Given the description of an element on the screen output the (x, y) to click on. 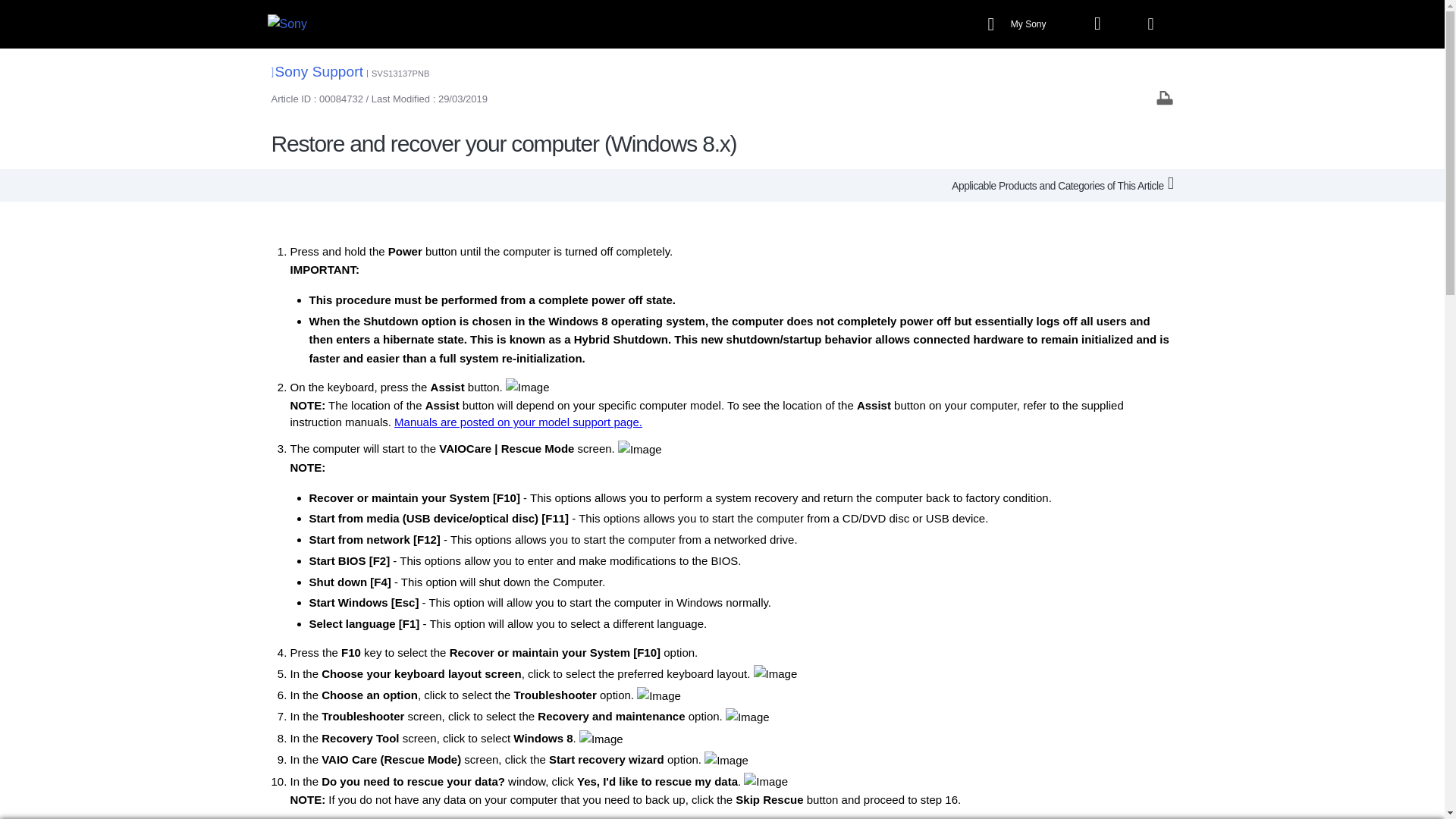
Print (1164, 97)
My Sony (1018, 24)
